Given the description of an element on the screen output the (x, y) to click on. 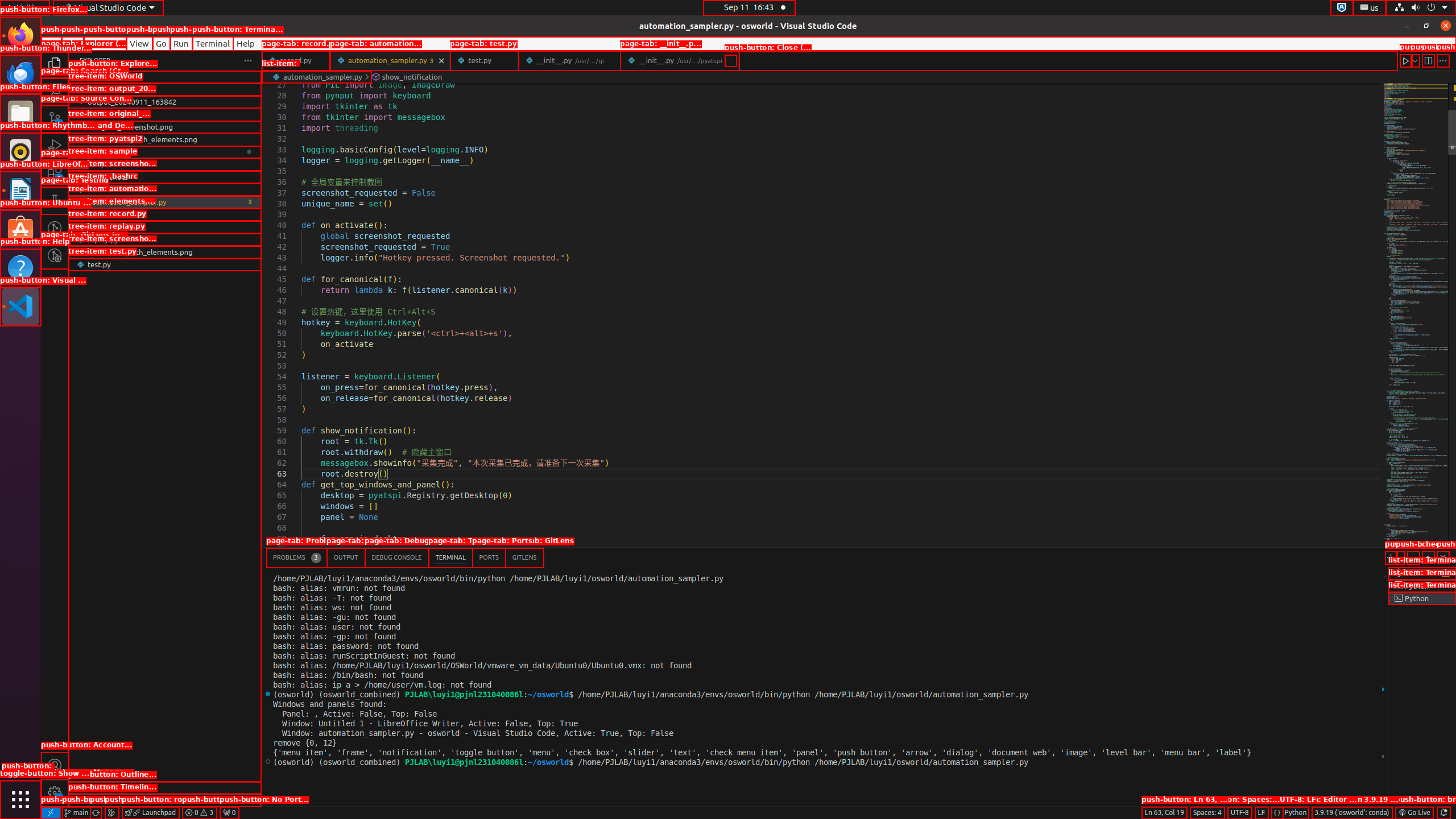
Spaces: 4 Element type: push-button (1206, 812)
:1.21/StatusNotifierItem Element type: menu (1369, 7)
Explorer Section: osworld Element type: push-button (164, 76)
